Given the description of an element on the screen output the (x, y) to click on. 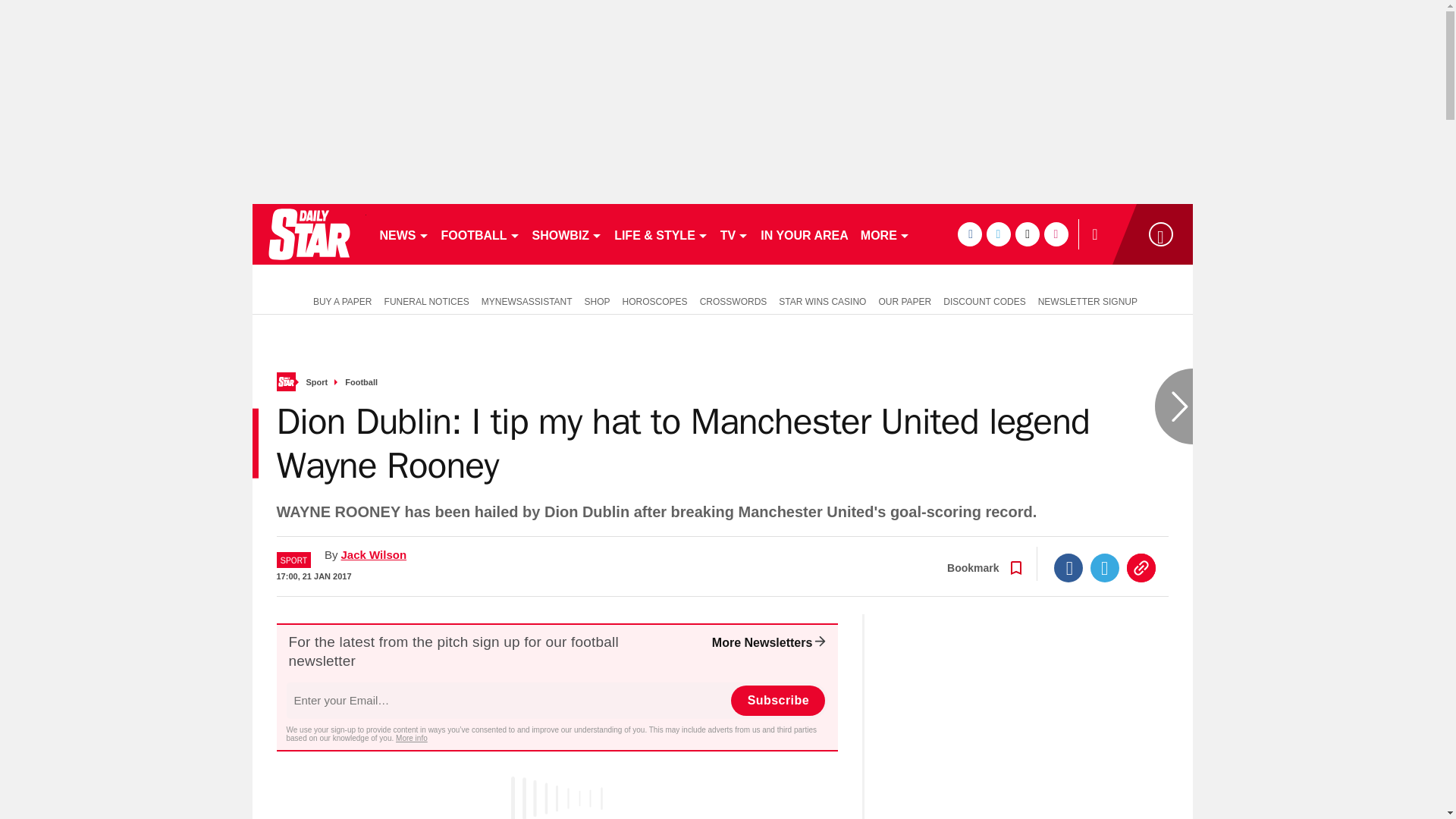
twitter (997, 233)
Twitter (1104, 567)
instagram (1055, 233)
Facebook (1068, 567)
NEWS (402, 233)
dailystar (308, 233)
tiktok (1026, 233)
FOOTBALL (480, 233)
SHOWBIZ (566, 233)
facebook (968, 233)
